Given the description of an element on the screen output the (x, y) to click on. 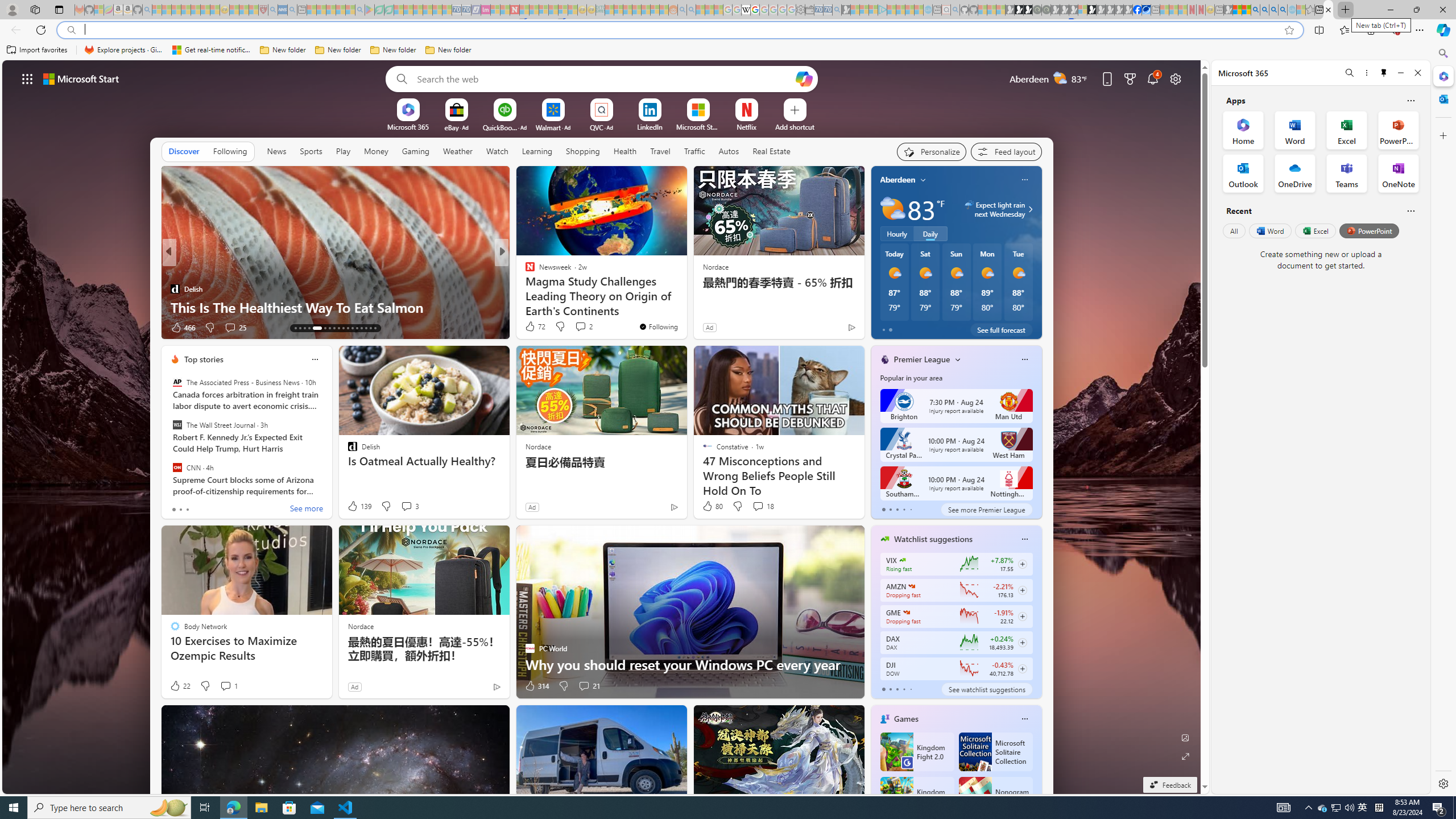
Top stories (203, 359)
Watch (496, 151)
223 Like (532, 327)
Home | Sky Blue Bikes - Sky Blue Bikes - Sleeping (927, 9)
5 Common Animal Myths DEBUNKED (684, 307)
Robert H. Shmerling, MD - Harvard Health - Sleeping (263, 9)
AutomationID: tab-14 (299, 328)
Edit Background (1185, 737)
Class: icon-img (1024, 718)
The Weather Channel - MSN - Sleeping (175, 9)
